Given the description of an element on the screen output the (x, y) to click on. 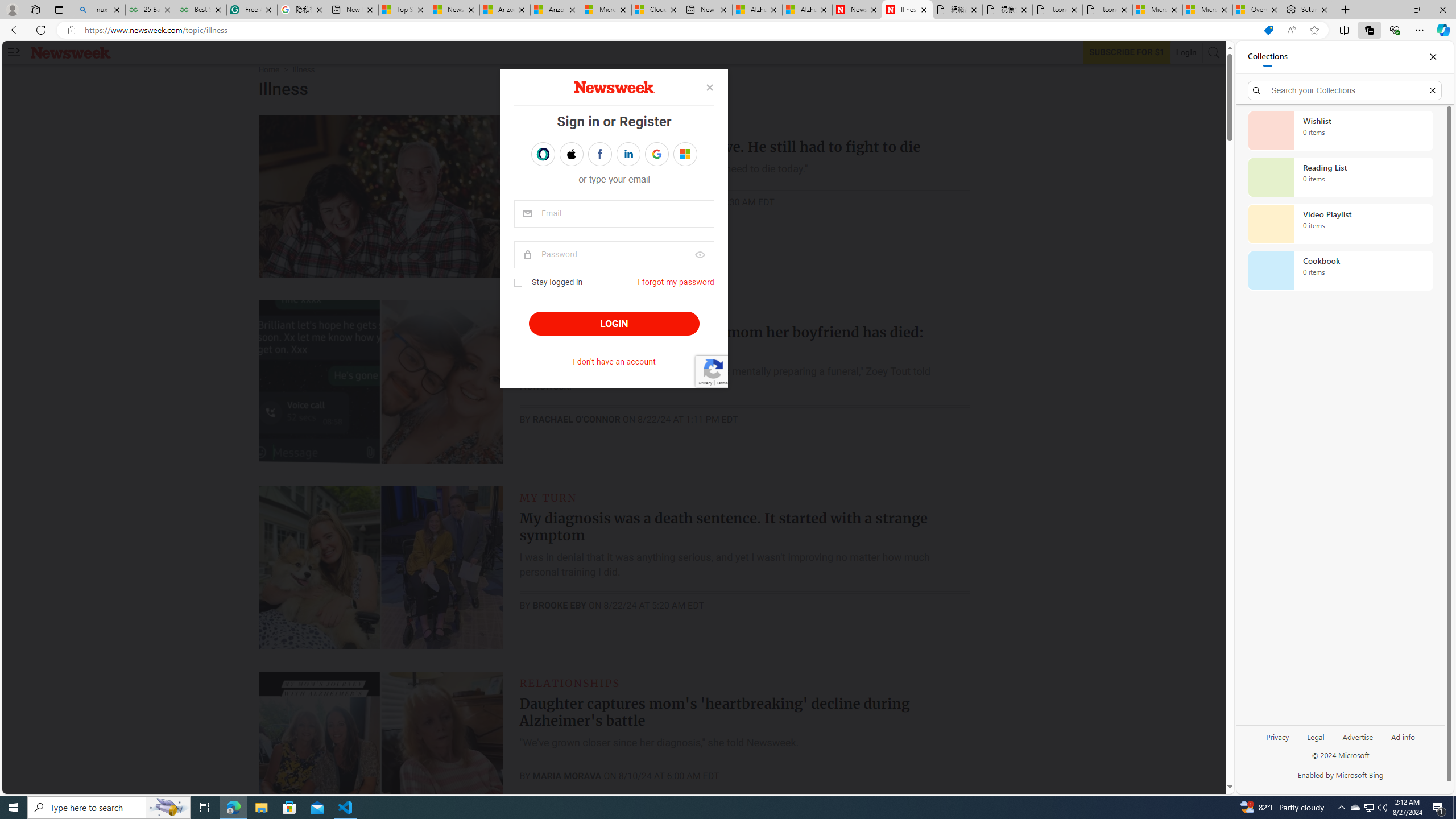
Free AI Writing Assistance for Students | Grammarly (251, 9)
Restore (1416, 9)
Microsoft account | Privacy (1207, 9)
AutomationID: search-btn (1213, 51)
email (613, 213)
Exit search (1432, 90)
LOGIN (613, 323)
Microsoft Services Agreement (606, 9)
Workspaces (34, 9)
Sign in with GOOGLE (656, 154)
Best SSL Certificates Provider in India - GeeksforGeeks (201, 9)
Microsoft (684, 153)
Cloud Computing Services | Microsoft Azure (656, 9)
